Given the description of an element on the screen output the (x, y) to click on. 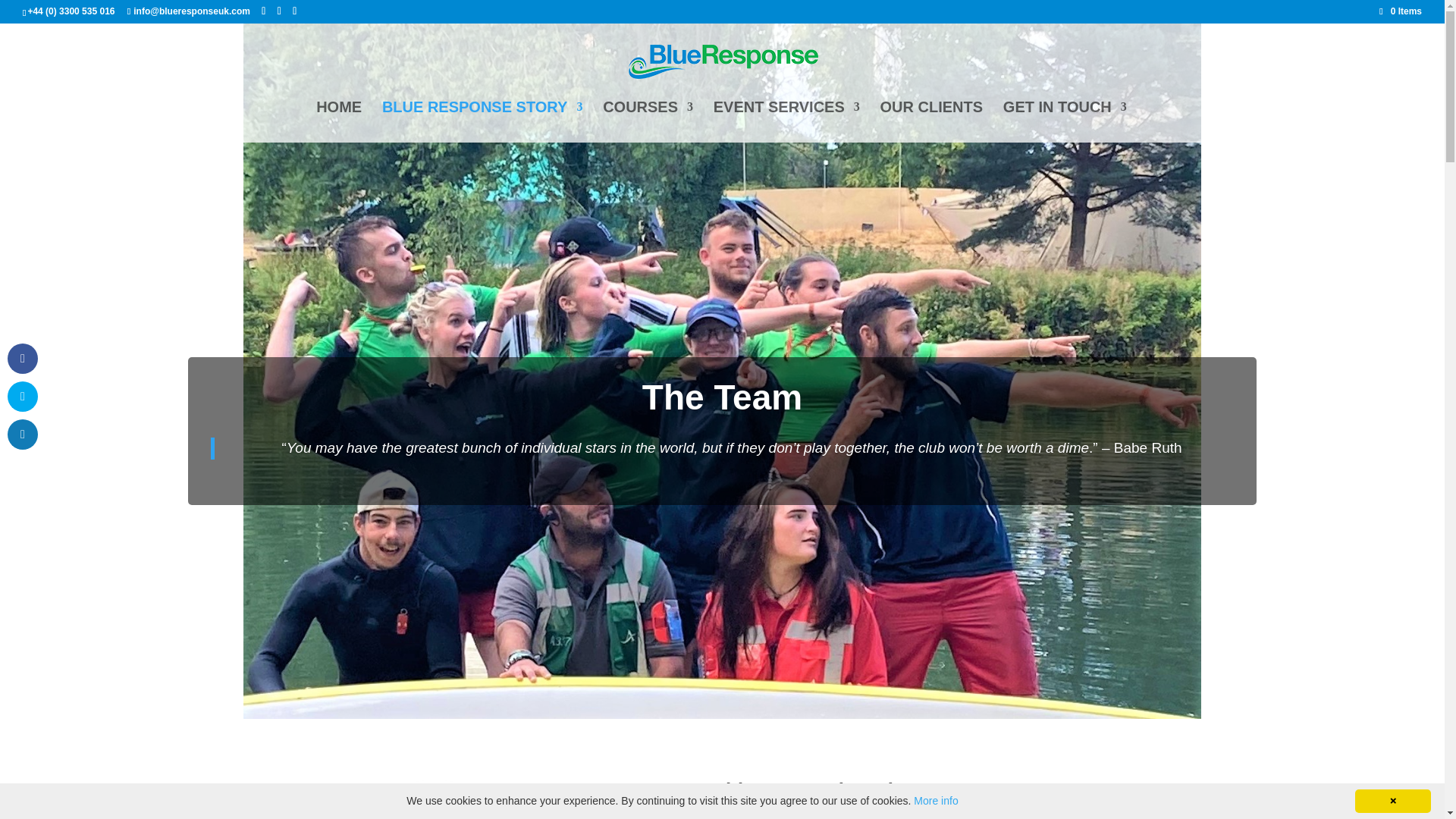
0 Items (1400, 10)
BKOK4772 (433, 802)
HOME (338, 121)
BLUE RESPONSE STORY (482, 121)
COURSES (647, 121)
EVENT SERVICES (786, 121)
GET IN TOUCH (1064, 121)
OUR CLIENTS (932, 121)
